Given the description of an element on the screen output the (x, y) to click on. 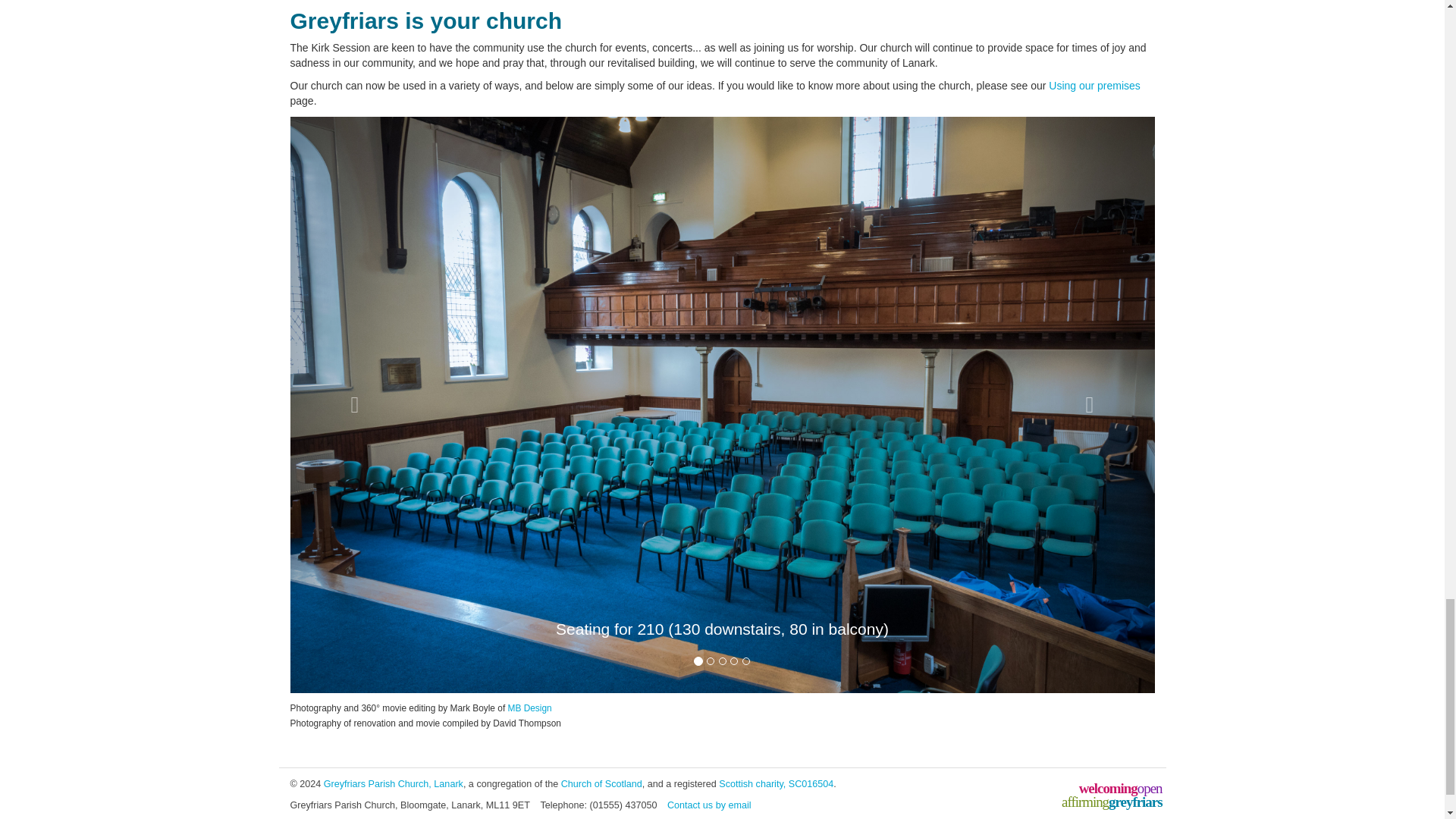
Next (1089, 404)
Scottish charity, SC016504 (775, 783)
Greyfriars Parish Church, Lanark (393, 783)
Previous (354, 404)
Using our premises (1094, 85)
MB Design (529, 707)
Church of Scotland (601, 783)
Contact us by email (708, 805)
